Given the description of an element on the screen output the (x, y) to click on. 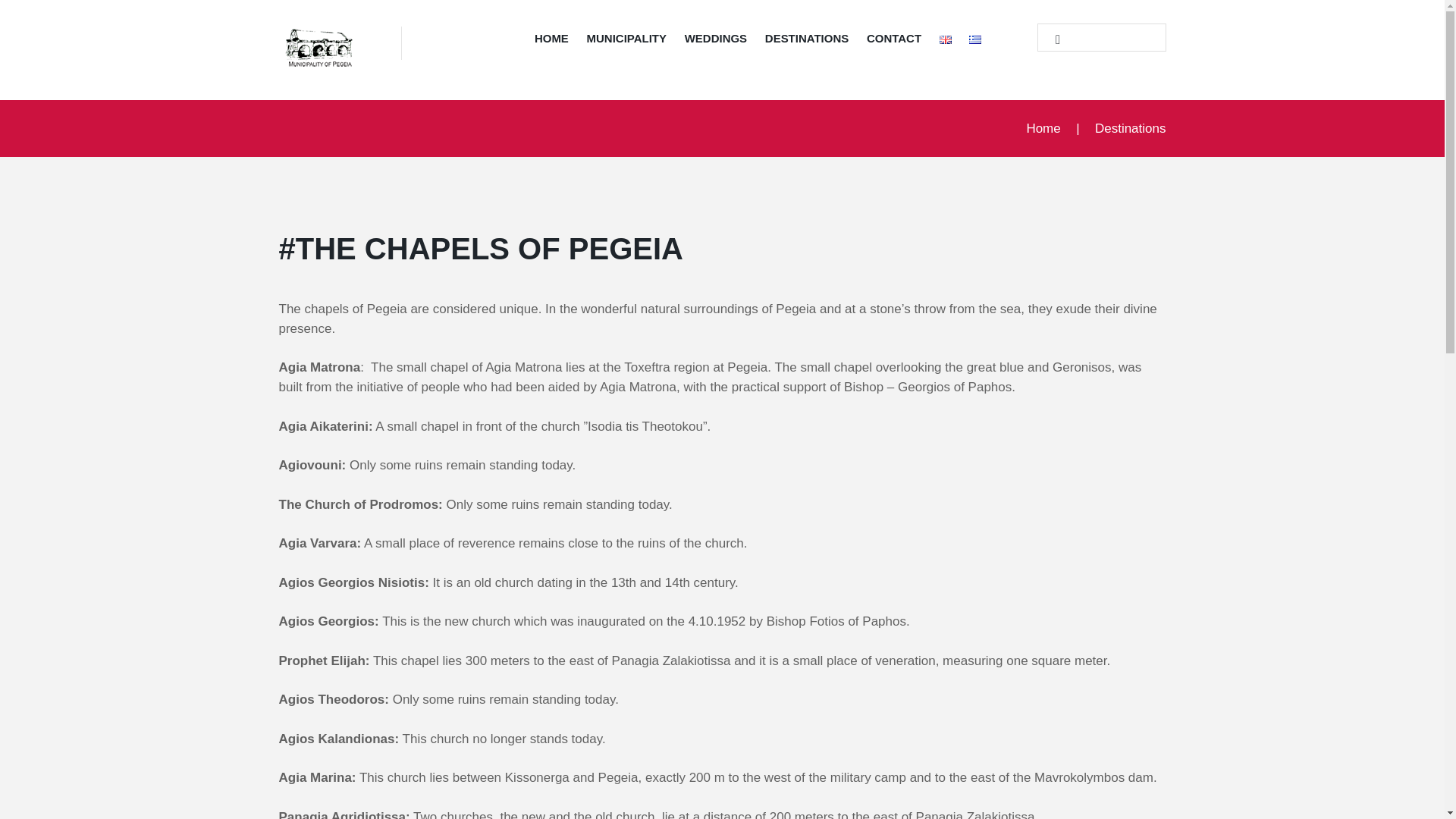
WEDDINGS (715, 40)
Start search (1051, 39)
MUNICIPALITY (626, 40)
English (945, 40)
